Given the description of an element on the screen output the (x, y) to click on. 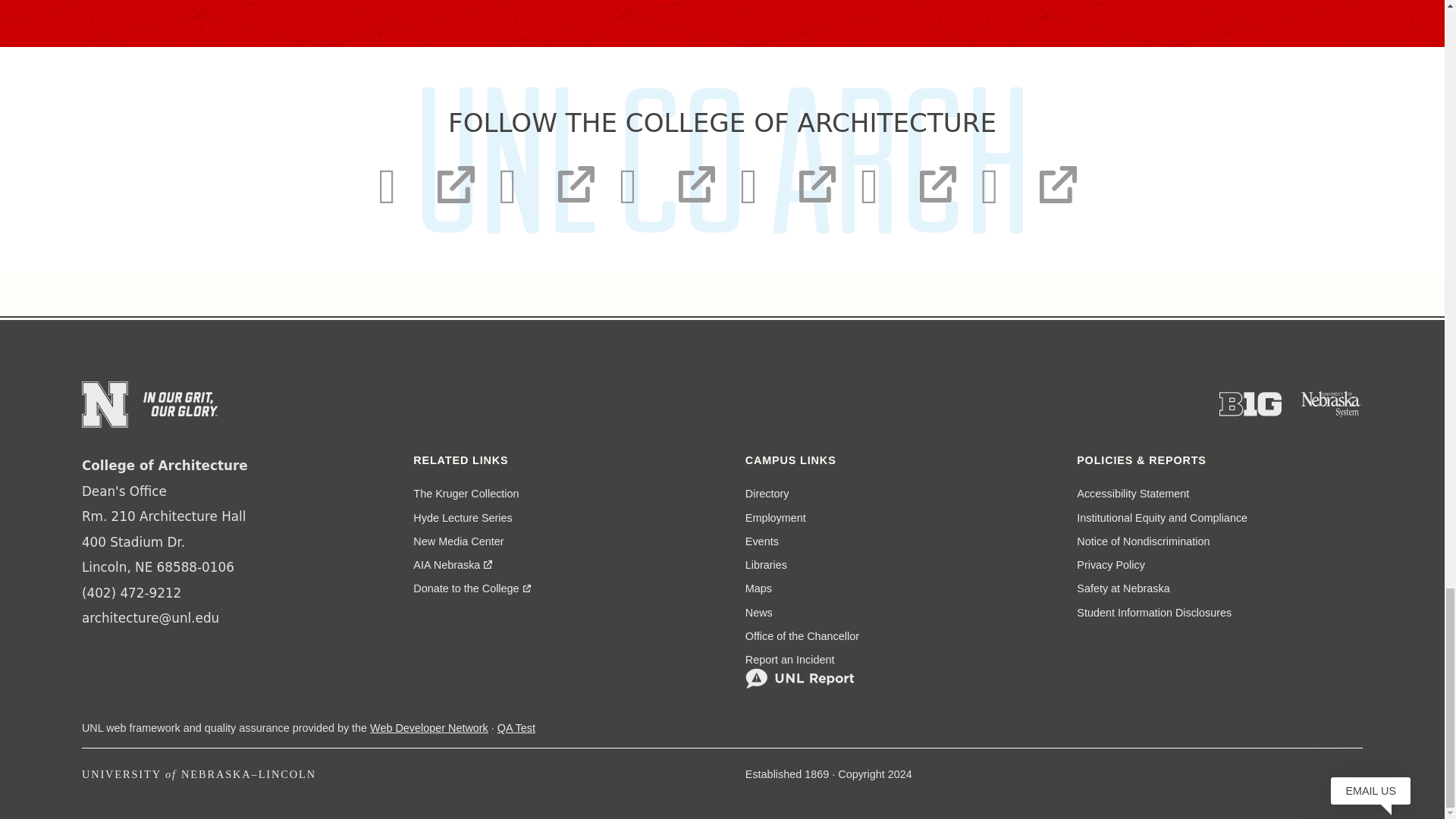
go to The Kruger Collection website (465, 494)
go to the AIA Nebraska website (453, 565)
go to The Hyde Lecture Series website (462, 517)
go to the Foundation website (472, 588)
go to the New Media Center website (458, 541)
